Given the description of an element on the screen output the (x, y) to click on. 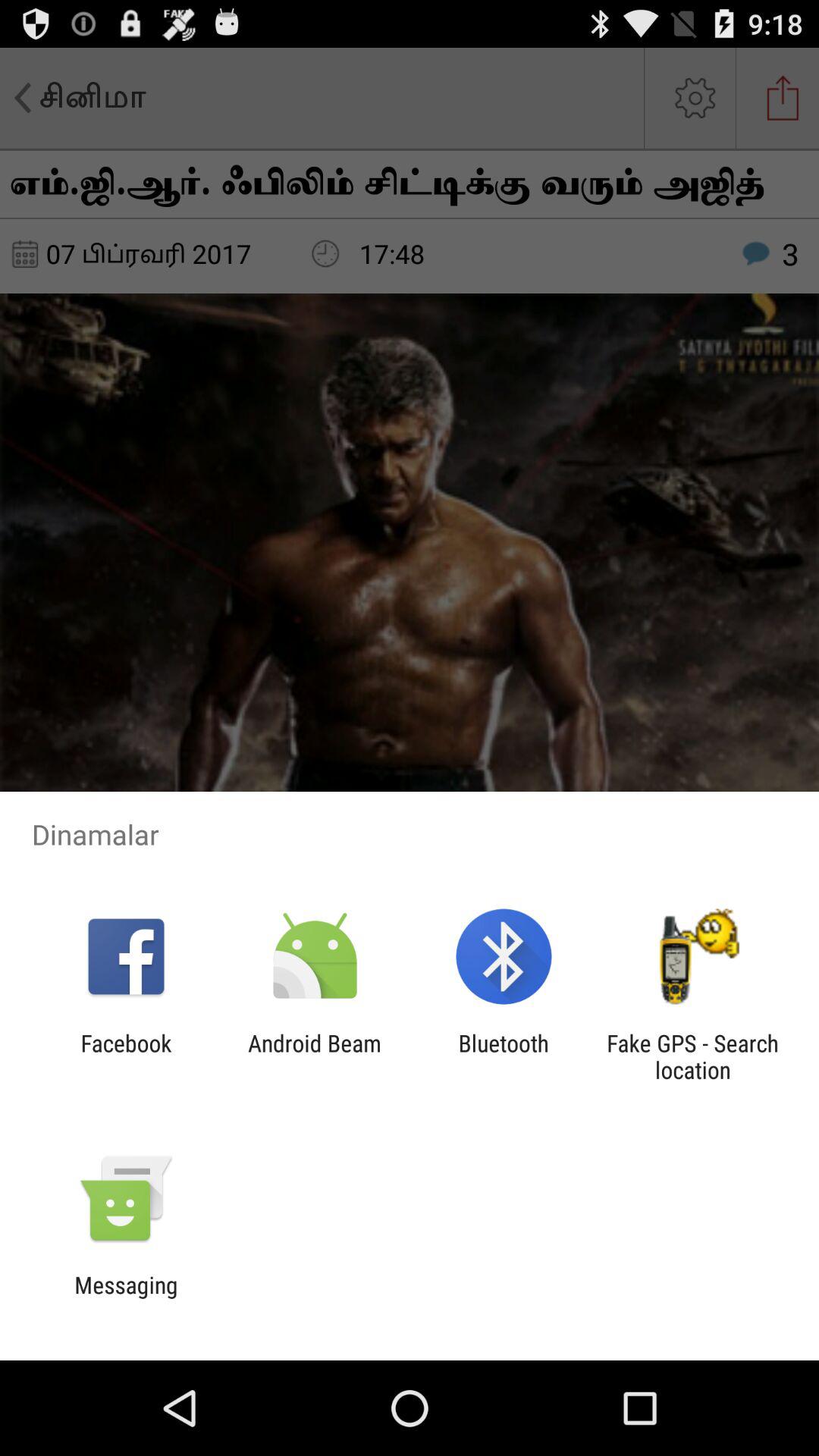
press the android beam (314, 1056)
